Given the description of an element on the screen output the (x, y) to click on. 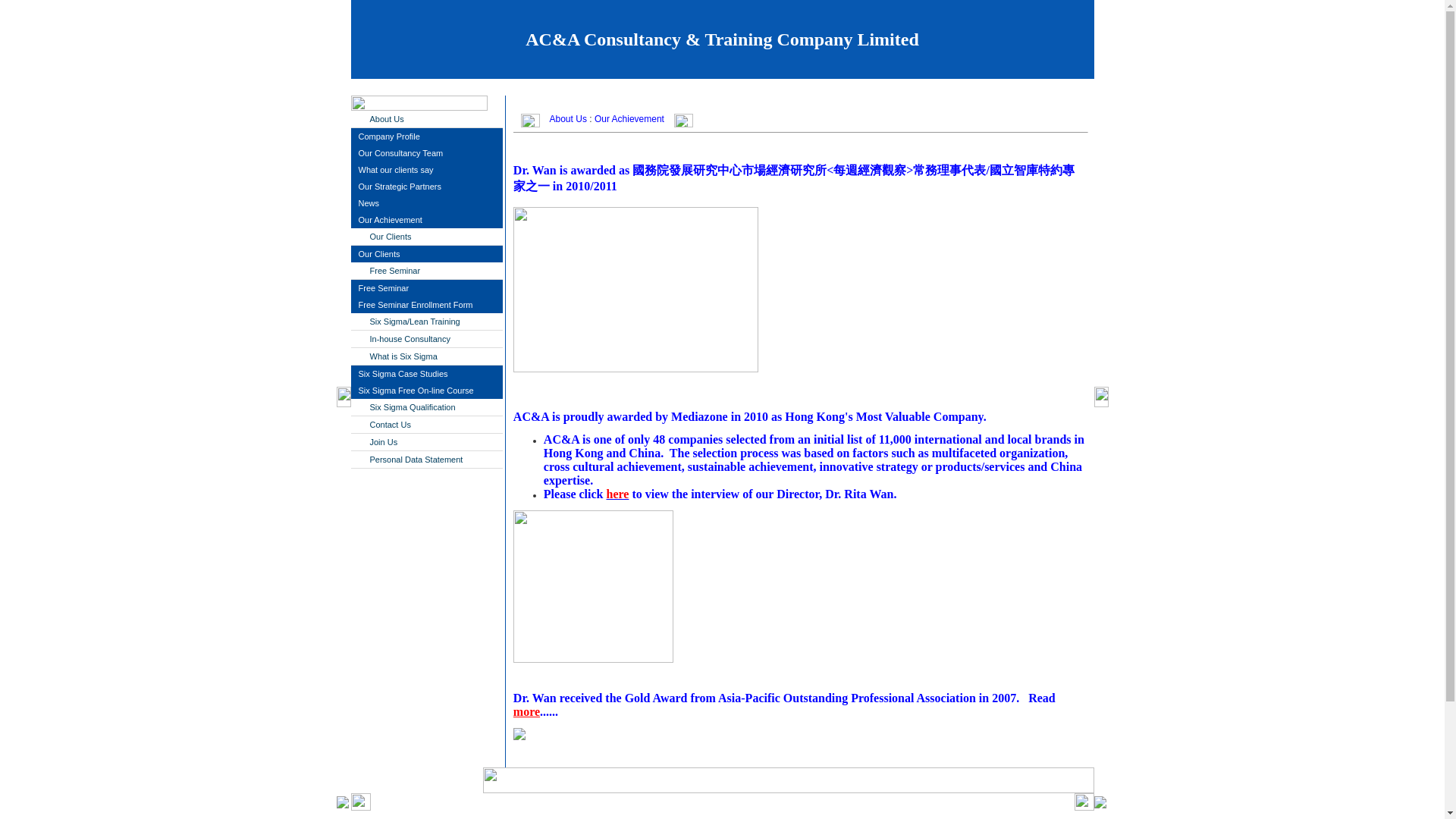
Our Achievement (628, 118)
Our Consultancy Team (426, 152)
Six Sigma Free On-line Course (426, 390)
Free Seminar (426, 288)
Our Strategic Partners (426, 186)
Our Clients (426, 253)
Six Sigma Case Studies (426, 373)
Company Profile (426, 135)
News (426, 202)
here (616, 493)
